Given the description of an element on the screen output the (x, y) to click on. 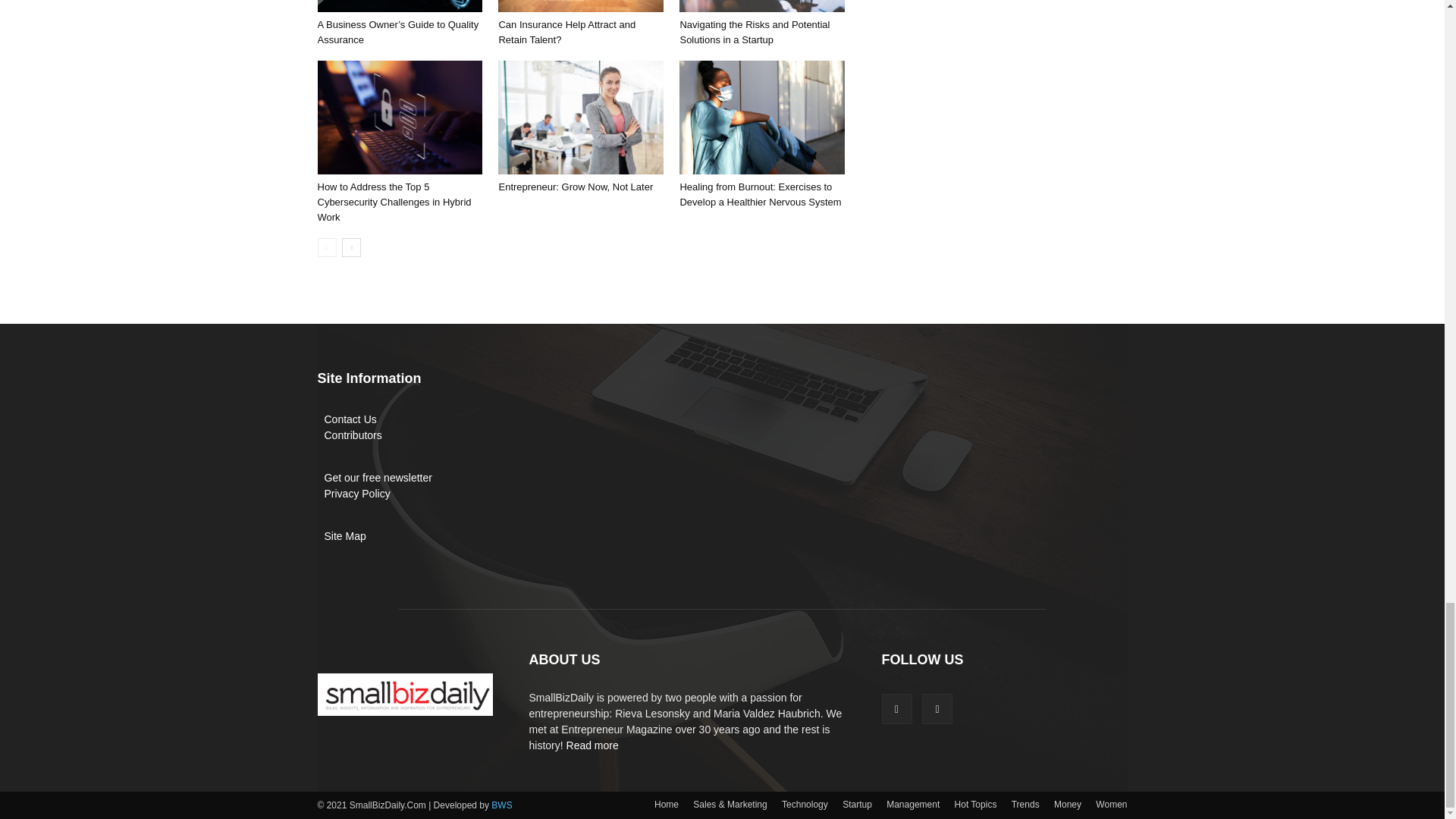
Entrepreneur: Grow Now, Not Later (580, 117)
Navigating the Risks and Potential Solutions in a Startup (761, 6)
Can Insurance Help Attract and Retain Talent? (580, 6)
Navigating the Risks and Potential Solutions in a Startup (754, 31)
Can Insurance Help Attract and Retain Talent? (565, 31)
